Given the description of an element on the screen output the (x, y) to click on. 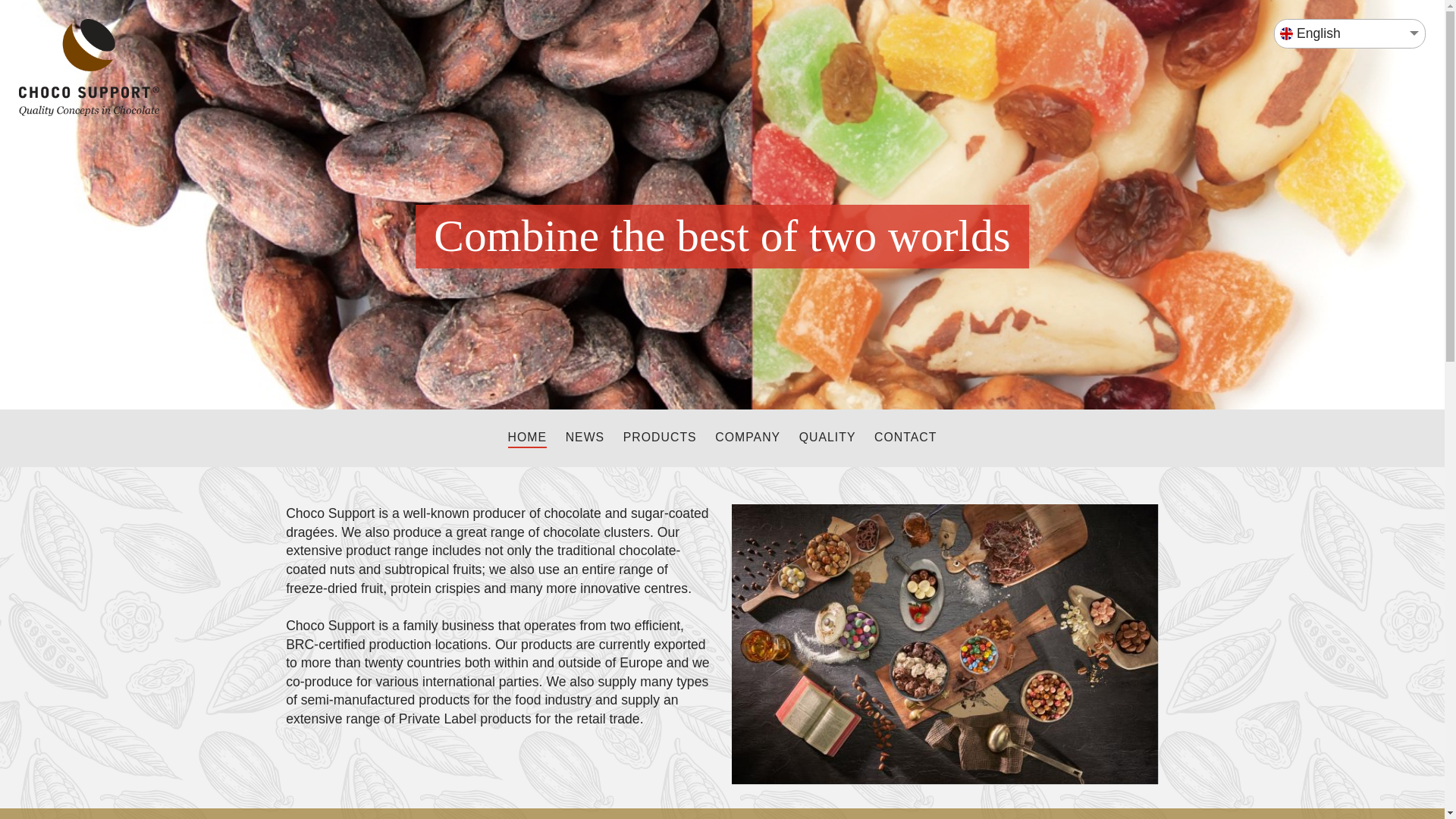
CONTACT (905, 438)
Quality  (827, 438)
NEWS (585, 438)
News (585, 438)
Products (660, 438)
Contact (905, 438)
HOME (527, 438)
COMPANY (747, 438)
PRODUCTS (660, 438)
Home (527, 438)
